Given the description of an element on the screen output the (x, y) to click on. 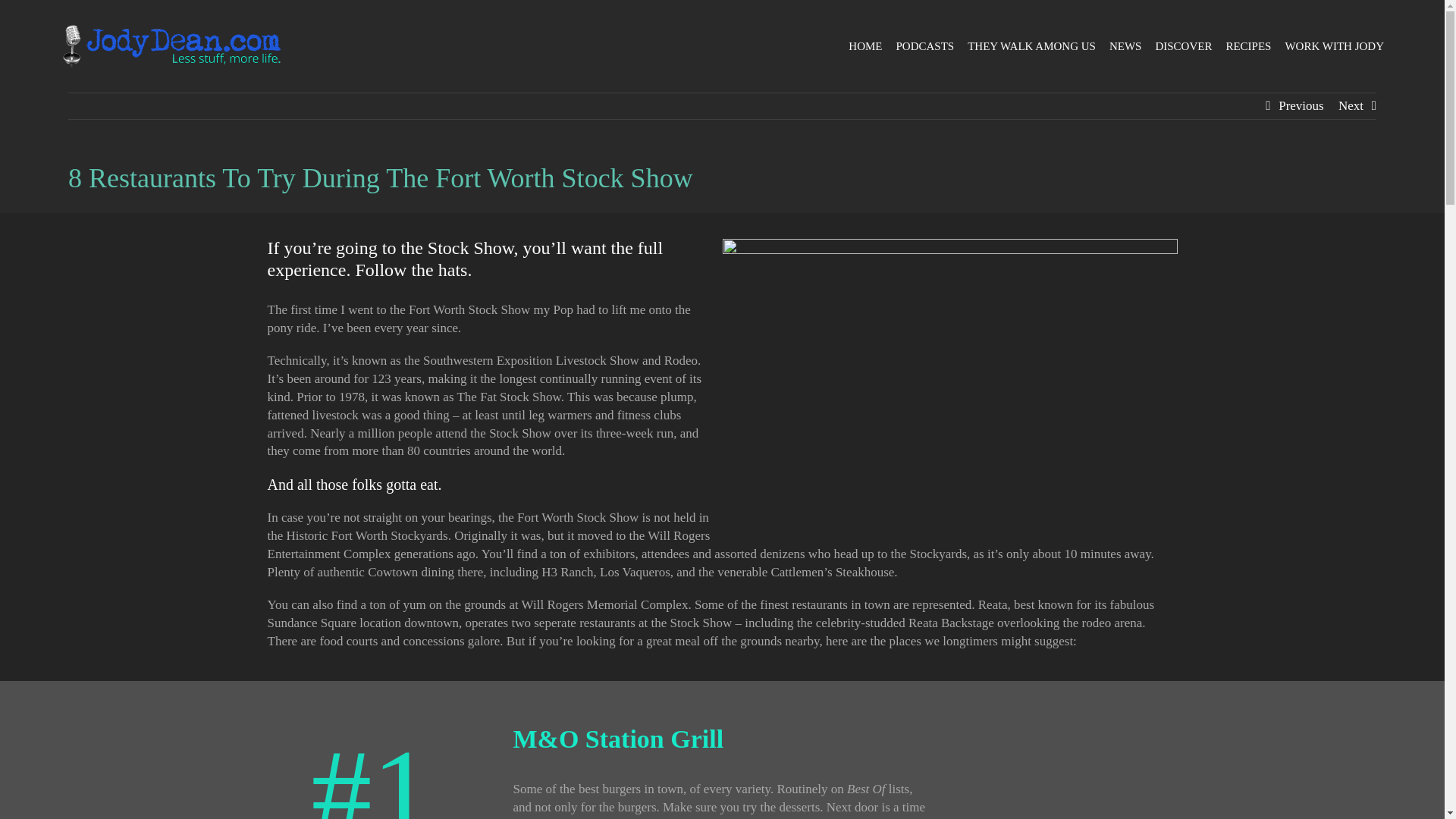
WORK WITH JODY (1334, 46)
Previous (1300, 105)
Next (1350, 105)
THEY WALK AMONG US (1032, 46)
